Given the description of an element on the screen output the (x, y) to click on. 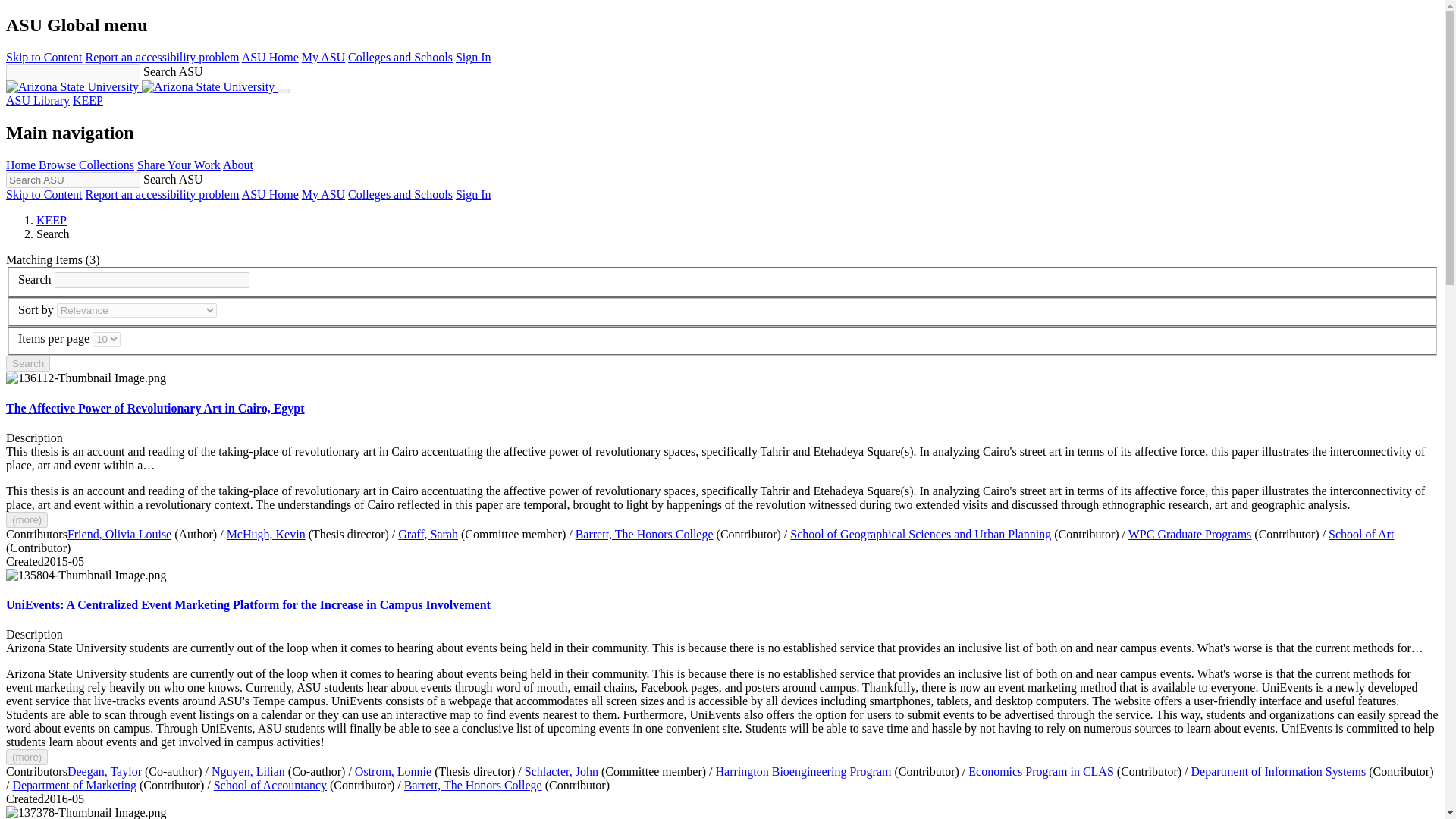
About (237, 164)
ASU Home (269, 56)
Report an accessibility problem (161, 194)
Schlacter, John (561, 771)
Friend, Olivia Louise (118, 533)
Sign In (473, 194)
Ostrom, Lonnie (392, 771)
My ASU (323, 56)
Search (27, 363)
Home (141, 86)
Skip to Content (43, 194)
Colleges and Schools (399, 56)
Report an accessibility problem (161, 56)
Screen reader link to the accessibility page (161, 194)
